Given the description of an element on the screen output the (x, y) to click on. 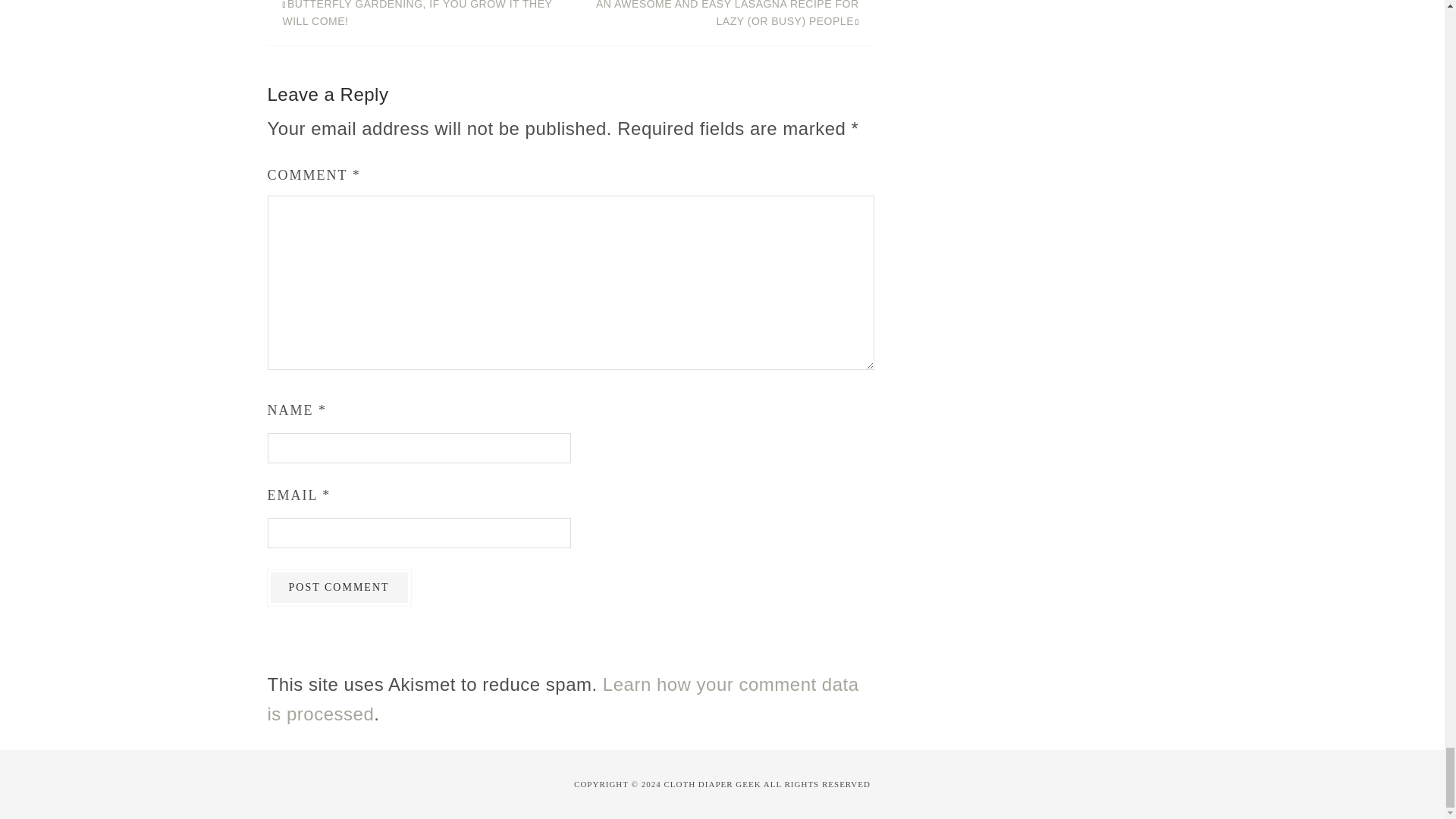
Learn how your comment data is processed (562, 698)
Post Comment (338, 587)
BUTTERFLY GARDENING, IF YOU GROW IT THEY WILL COME! (416, 13)
Post Comment (338, 587)
